Given the description of an element on the screen output the (x, y) to click on. 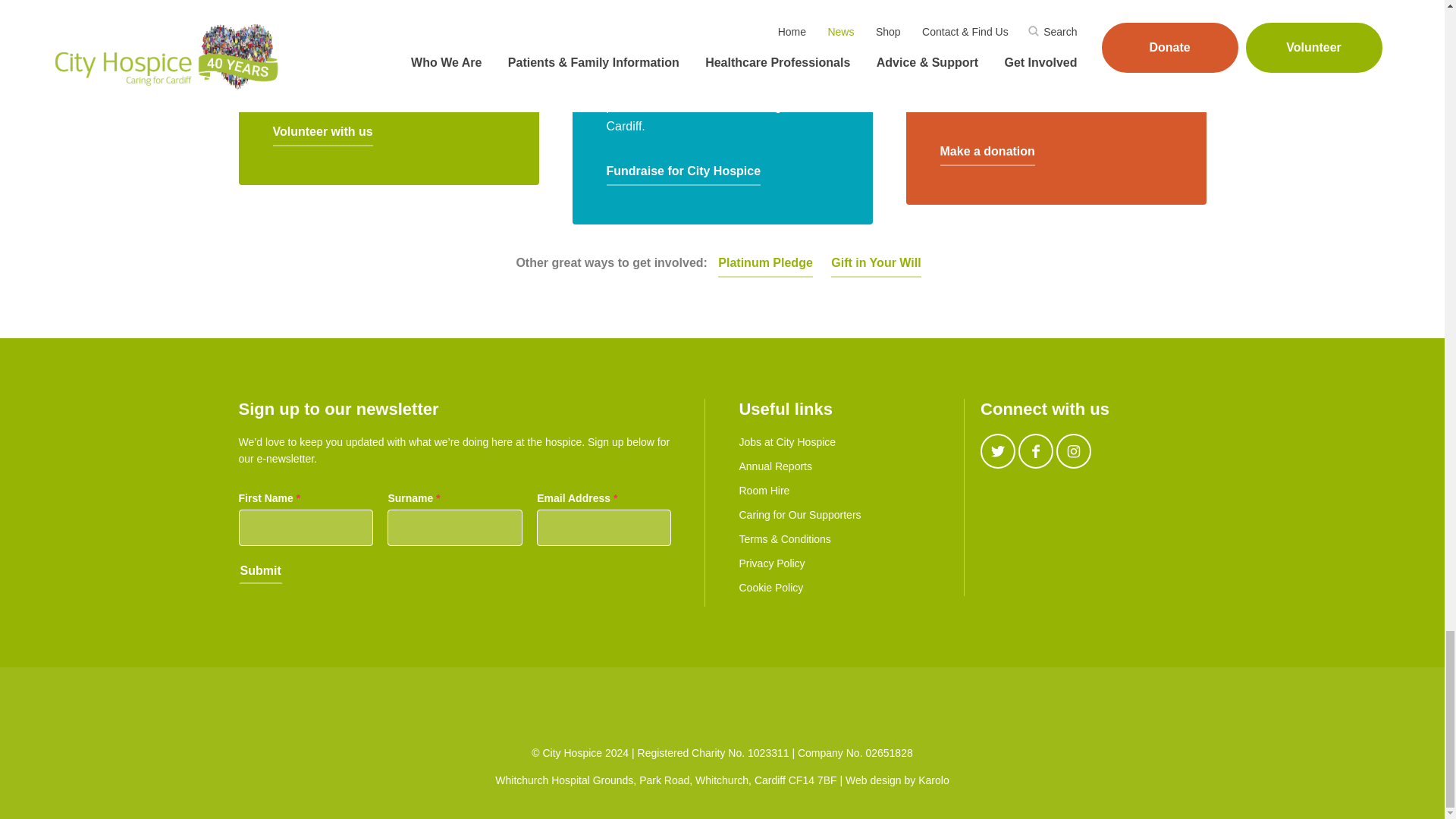
Volunteer with us (322, 134)
Fundraise for City Hospice (684, 173)
Submit (260, 572)
